Given the description of an element on the screen output the (x, y) to click on. 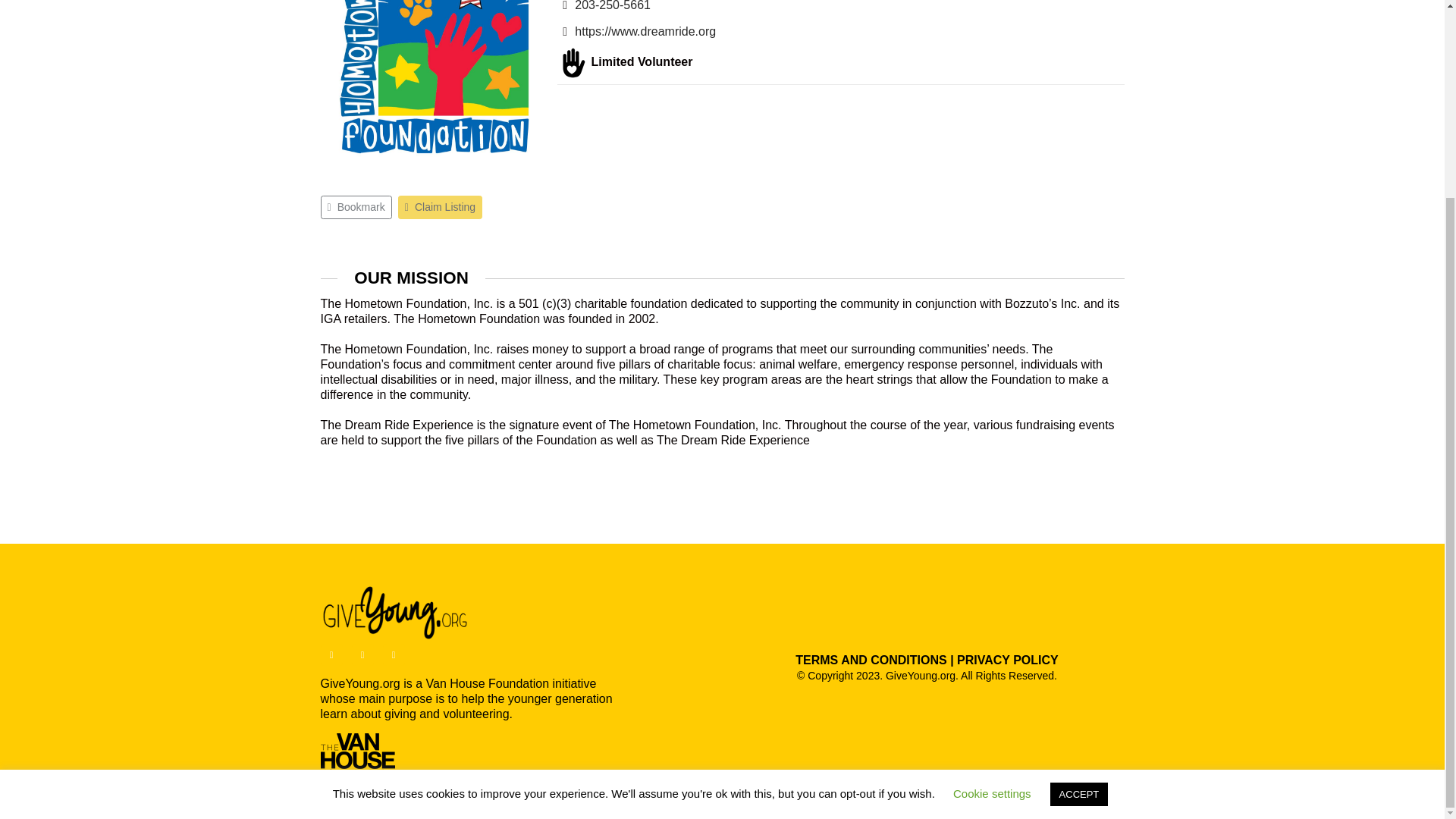
Youtube (363, 654)
Limited Volunteer (572, 62)
Instagram (393, 654)
GiveYoung.org (395, 612)
Facebook (331, 654)
logo721.jpg (434, 88)
